Given the description of an element on the screen output the (x, y) to click on. 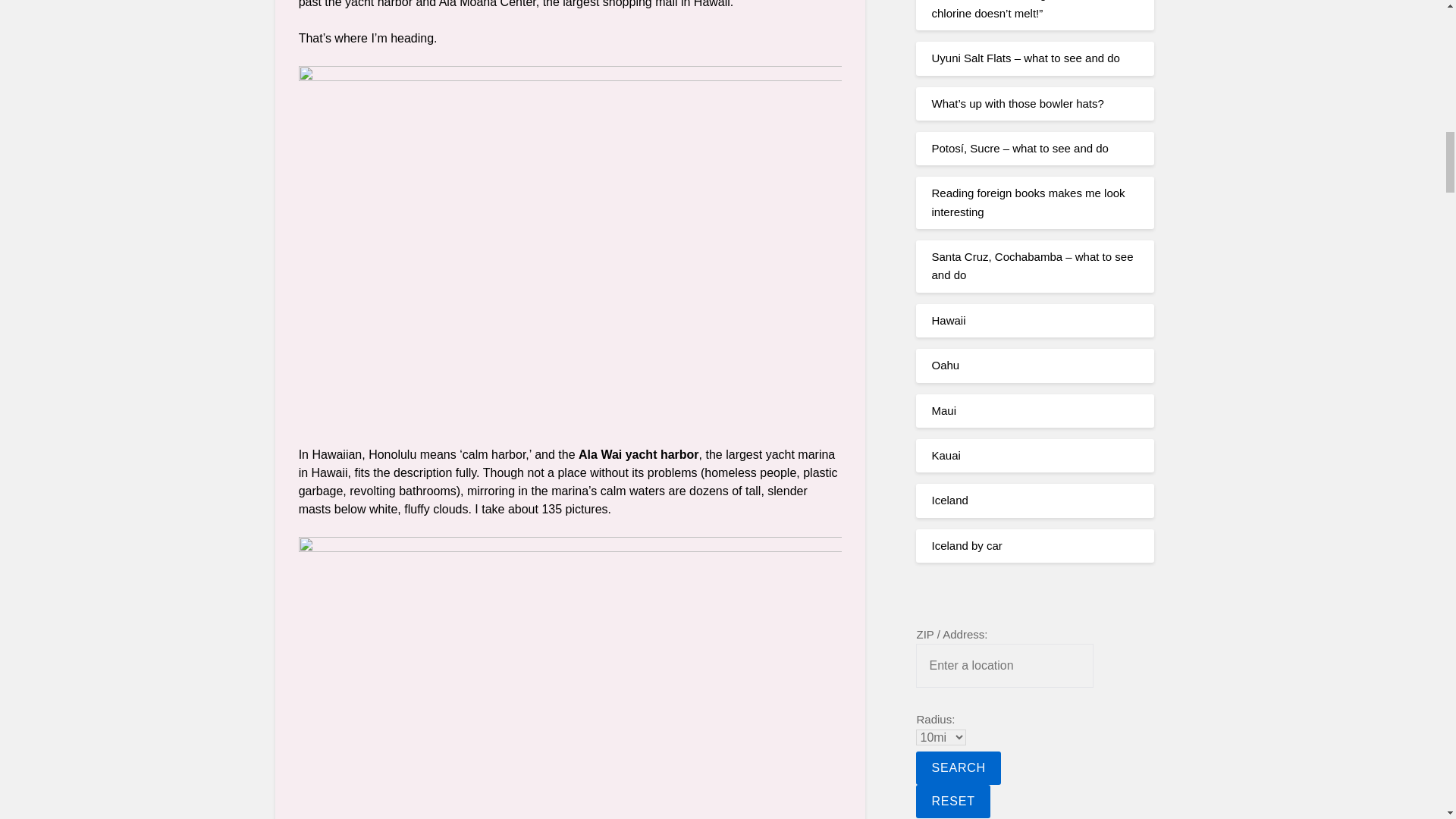
Search (957, 767)
Search (957, 767)
Reset (952, 801)
